Given the description of an element on the screen output the (x, y) to click on. 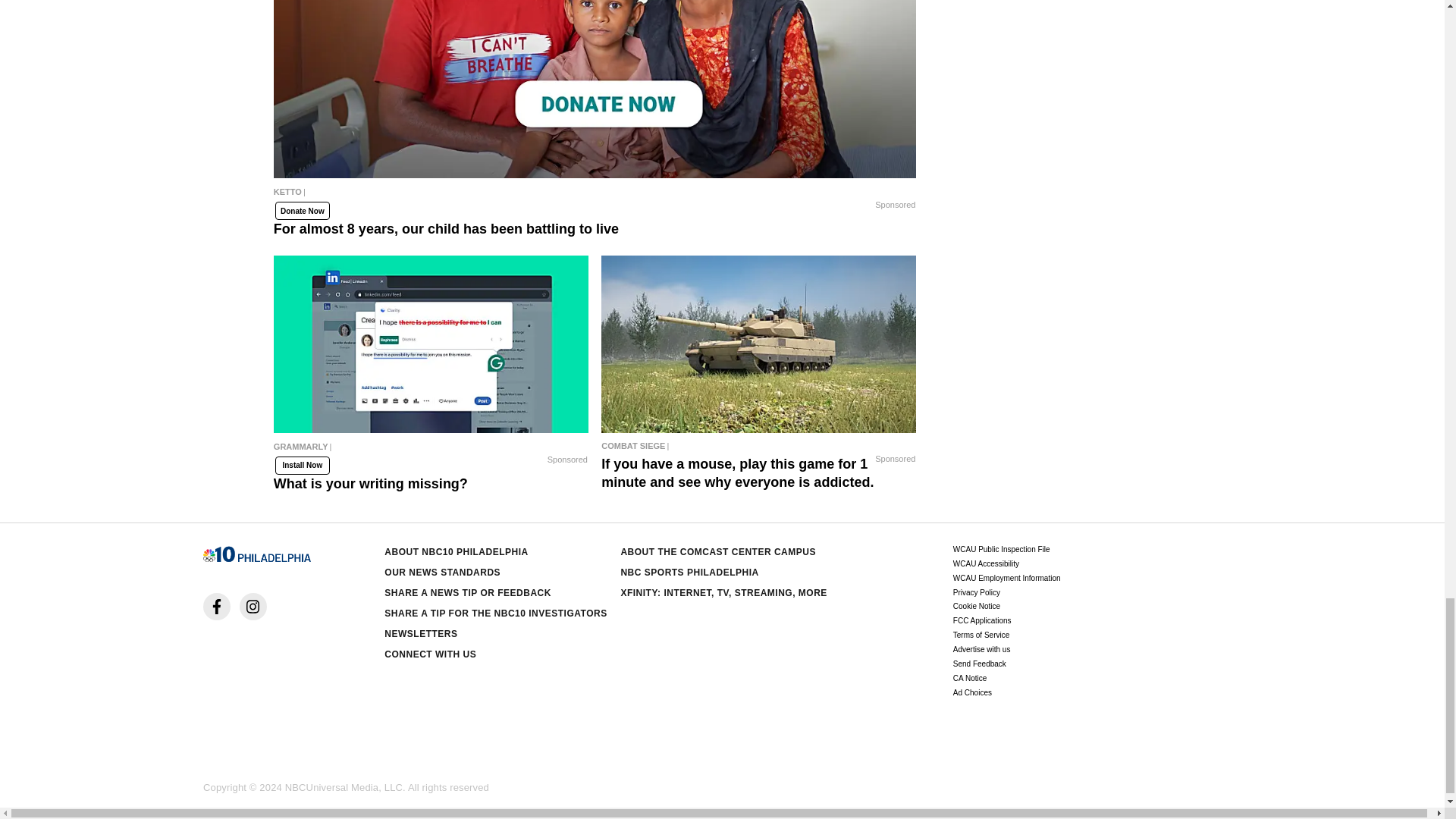
For almost 8 years, our child has been battling to live (595, 89)
For almost 8 years, our child has been battling to live (595, 195)
What is your writing missing? (430, 450)
What is your writing missing? (430, 344)
